Given the description of an element on the screen output the (x, y) to click on. 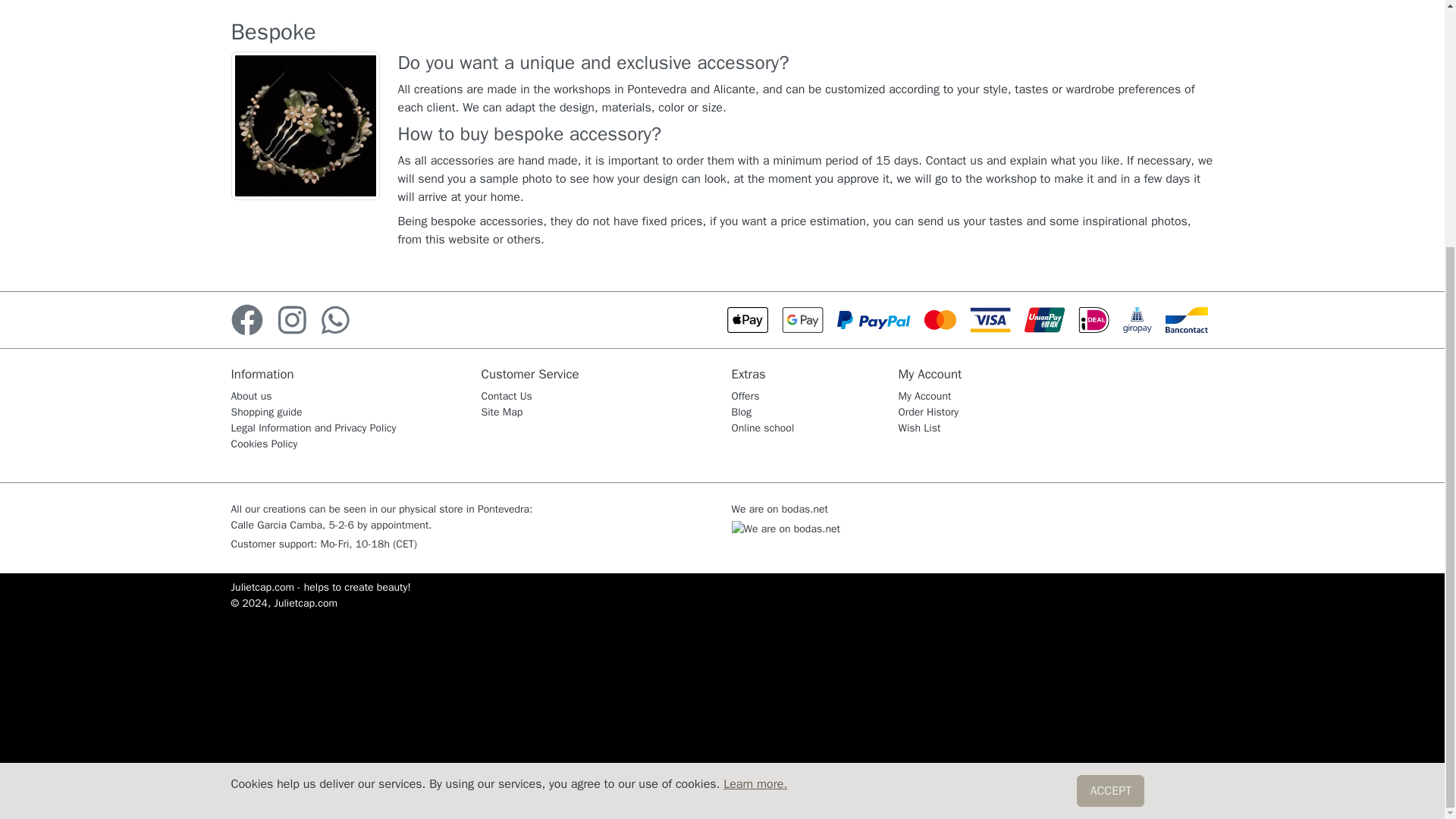
Bespoke (304, 125)
